Given the description of an element on the screen output the (x, y) to click on. 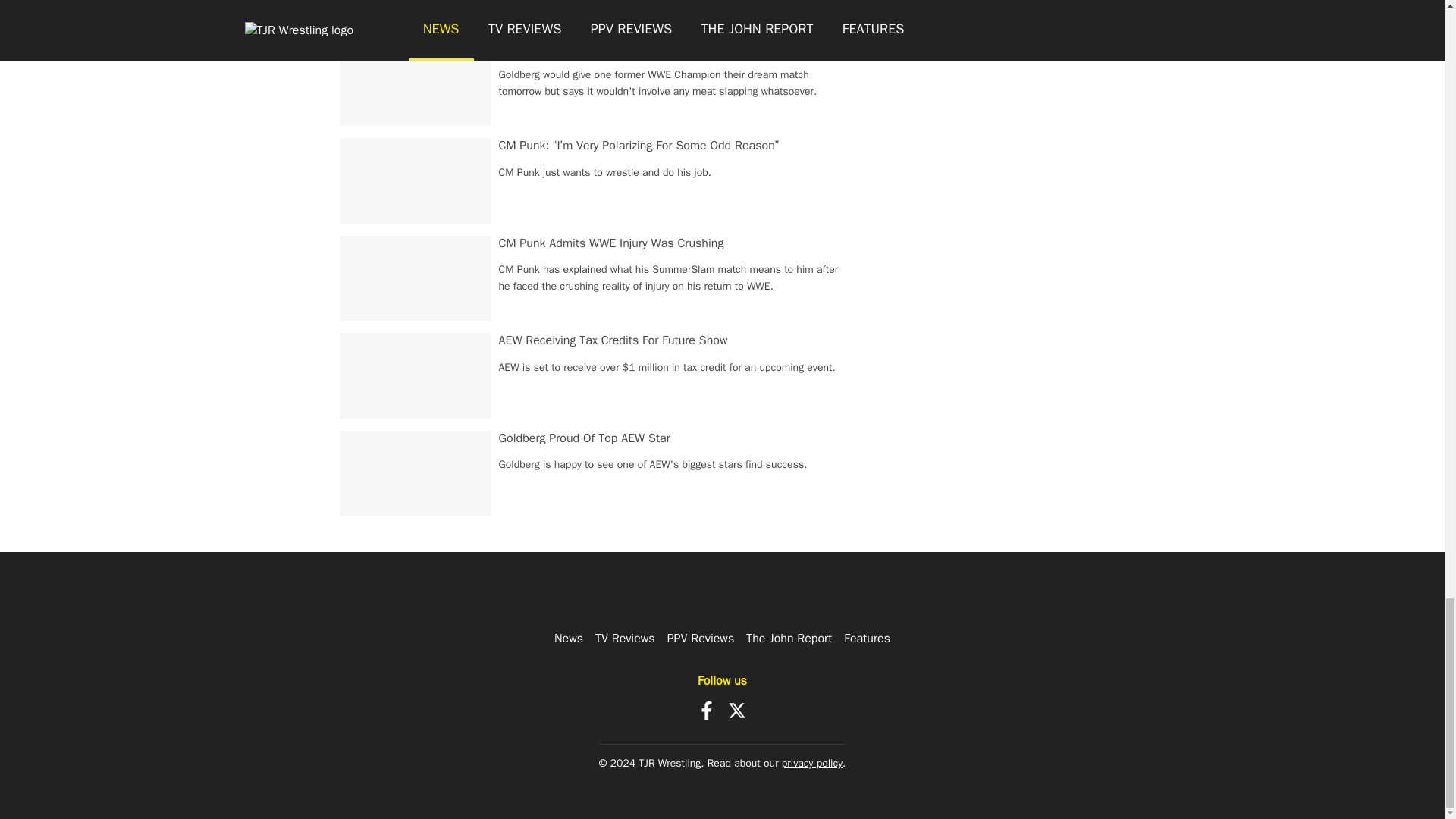
X (736, 710)
Facebook (706, 710)
